Given the description of an element on the screen output the (x, y) to click on. 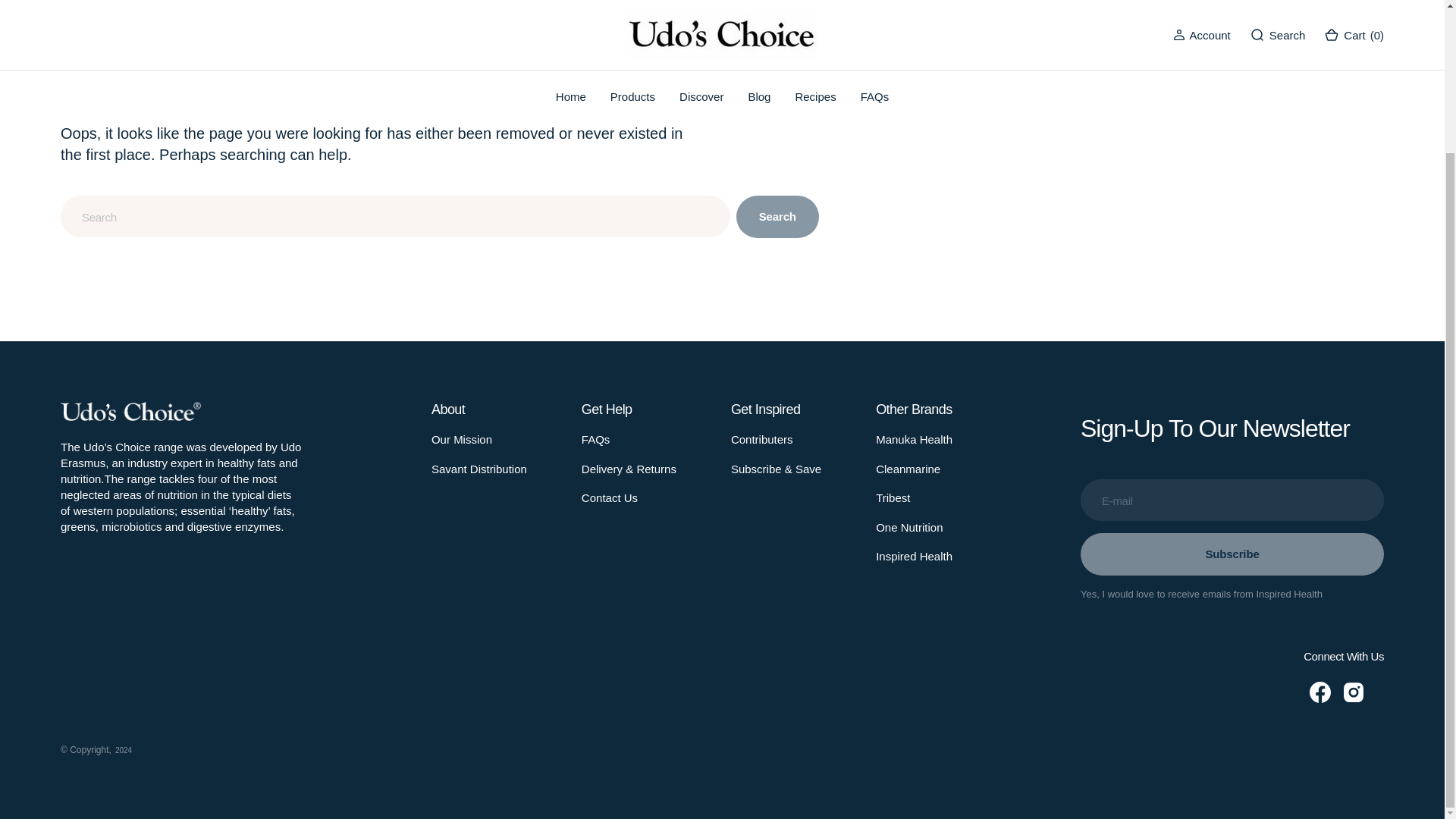
Home (74, 4)
